Given the description of an element on the screen output the (x, y) to click on. 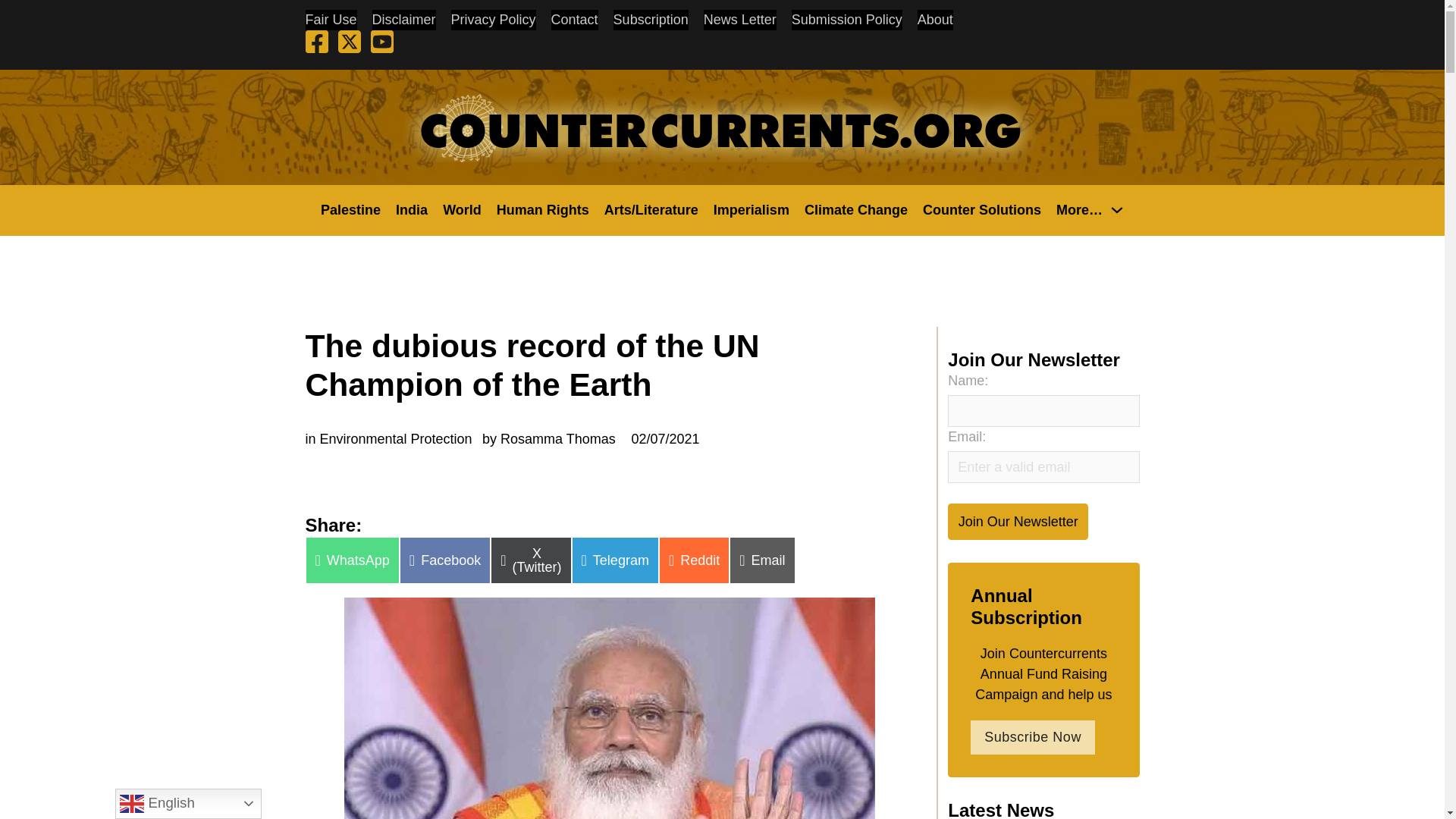
World (461, 209)
India (412, 209)
Disclaimer (403, 19)
Climate Change (856, 209)
Counter Solutions (982, 209)
Palestine (350, 209)
Human Rights (542, 209)
The dubious record of the UN Champion of the Earth 2 (609, 708)
About (935, 19)
Join Our Newsletter (1017, 520)
Submission Policy (847, 19)
Subscription (650, 19)
Fair Use (330, 19)
Imperialism (751, 209)
News Letter (739, 19)
